Given the description of an element on the screen output the (x, y) to click on. 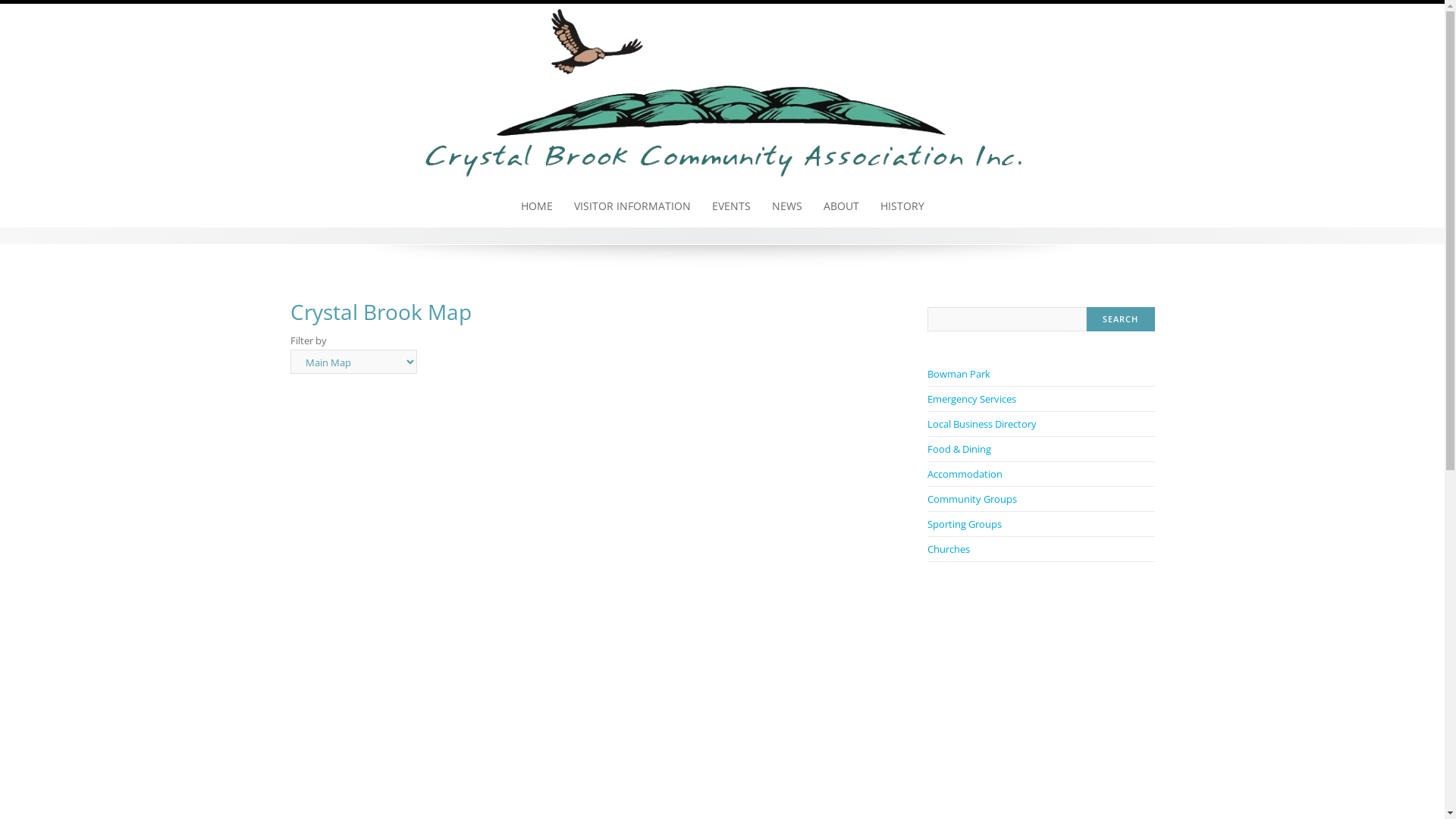
Food & Dining Element type: text (958, 448)
VISITOR INFORMATION Element type: text (631, 206)
ABOUT Element type: text (841, 206)
Local Business Directory Element type: text (980, 423)
NEWS Element type: text (786, 206)
Churches Element type: text (947, 548)
Community Groups Element type: text (971, 498)
HOME Element type: text (536, 206)
Bowman Park Element type: text (957, 373)
Accommodation Element type: text (963, 473)
HISTORY Element type: text (901, 206)
Sporting Groups Element type: text (963, 523)
Emergency Services Element type: text (970, 398)
Search Element type: text (1119, 319)
EVENTS Element type: text (730, 206)
